Given the description of an element on the screen output the (x, y) to click on. 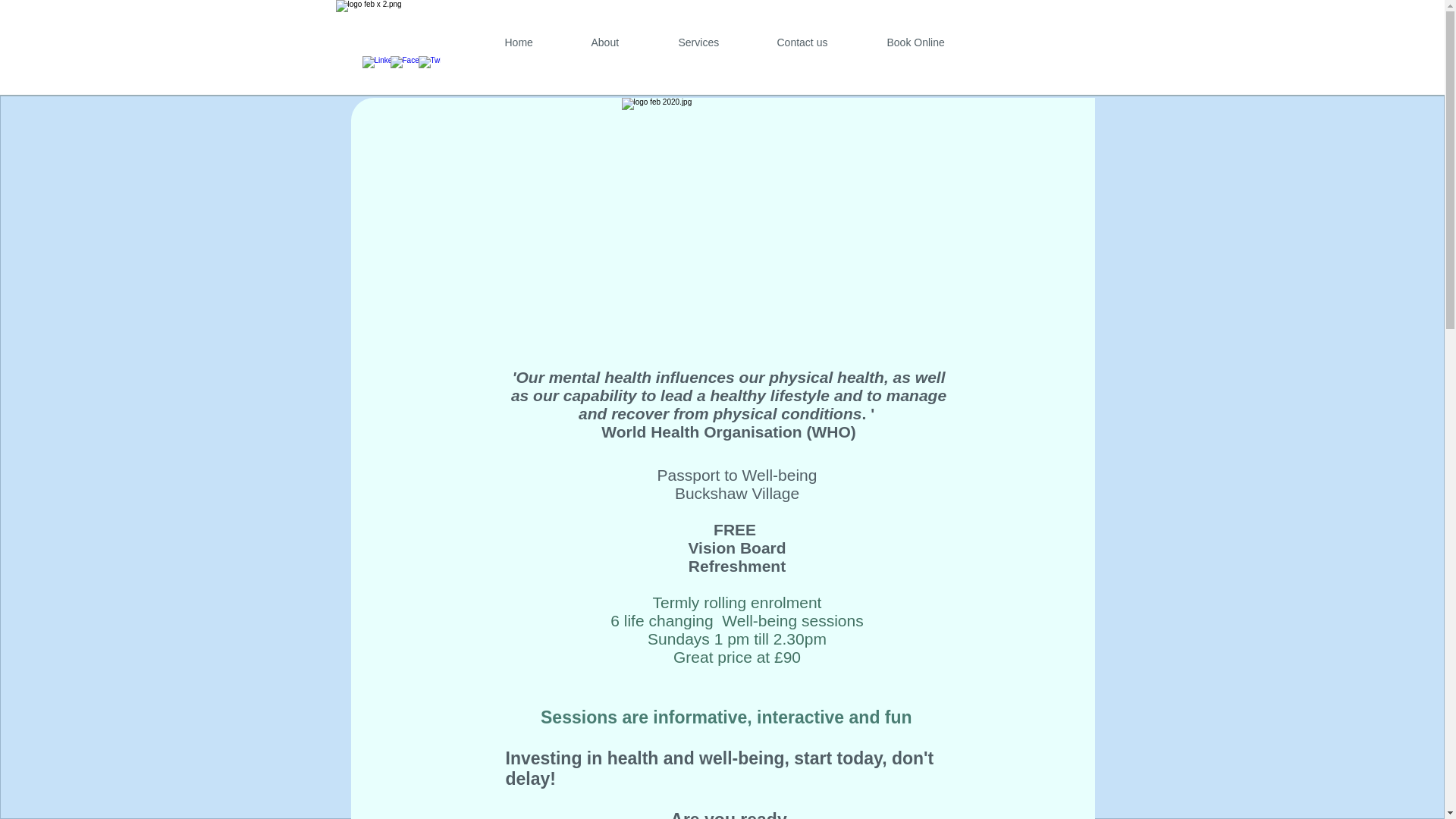
Home (536, 42)
Services (715, 42)
Book Online (934, 42)
About (622, 42)
Contact us (820, 42)
